Given the description of an element on the screen output the (x, y) to click on. 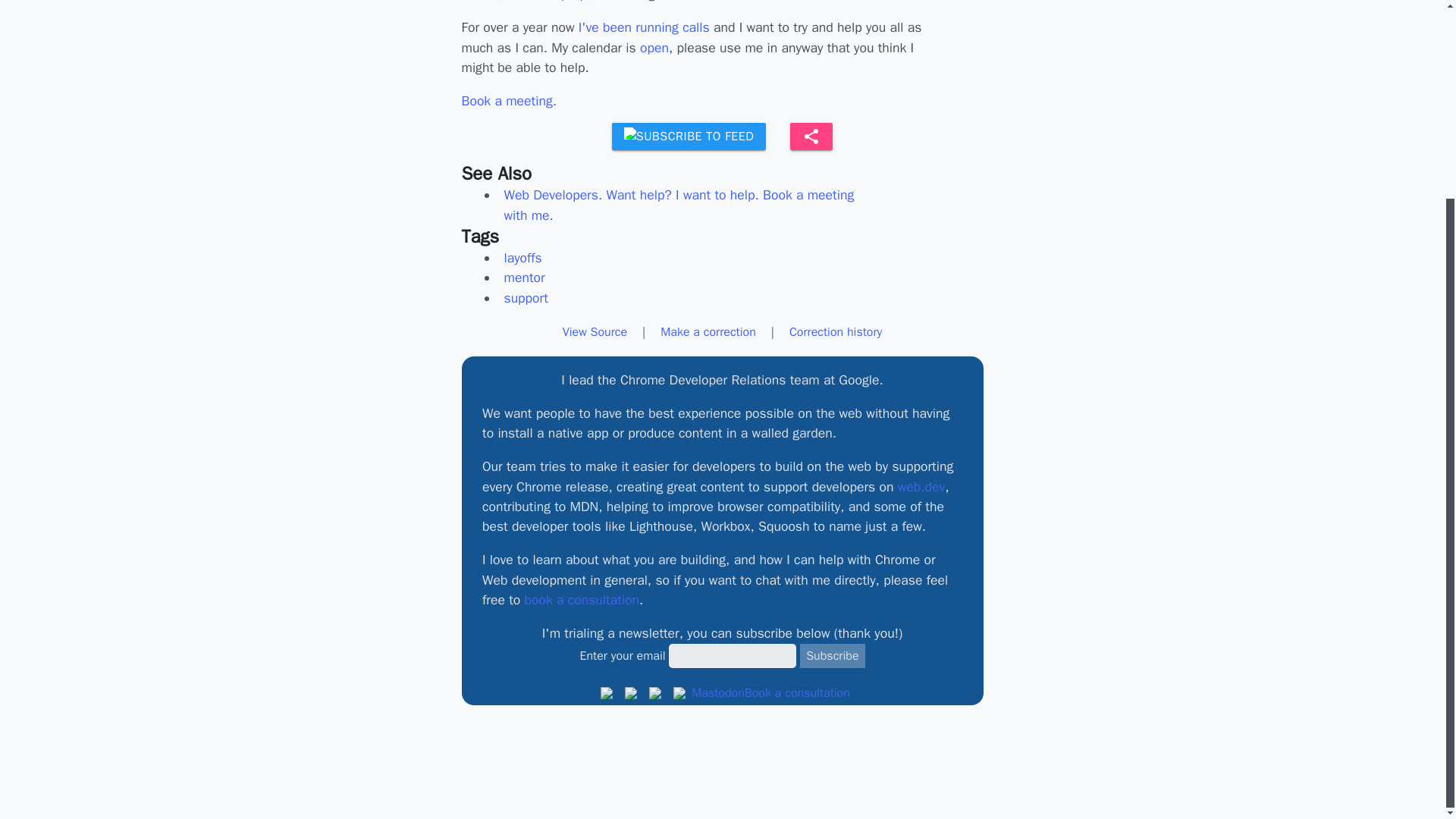
book a consultation (581, 599)
Correction history (835, 331)
Subscribe (831, 655)
Support during layoffs (811, 135)
support (525, 297)
open (654, 47)
Make a correction (708, 331)
I've been running calls (644, 26)
layoffs (522, 257)
web.dev (922, 486)
Book a meeting. (508, 100)
Book a consultation (797, 692)
Mastodon (718, 692)
Support during layoffs (811, 136)
